Given the description of an element on the screen output the (x, y) to click on. 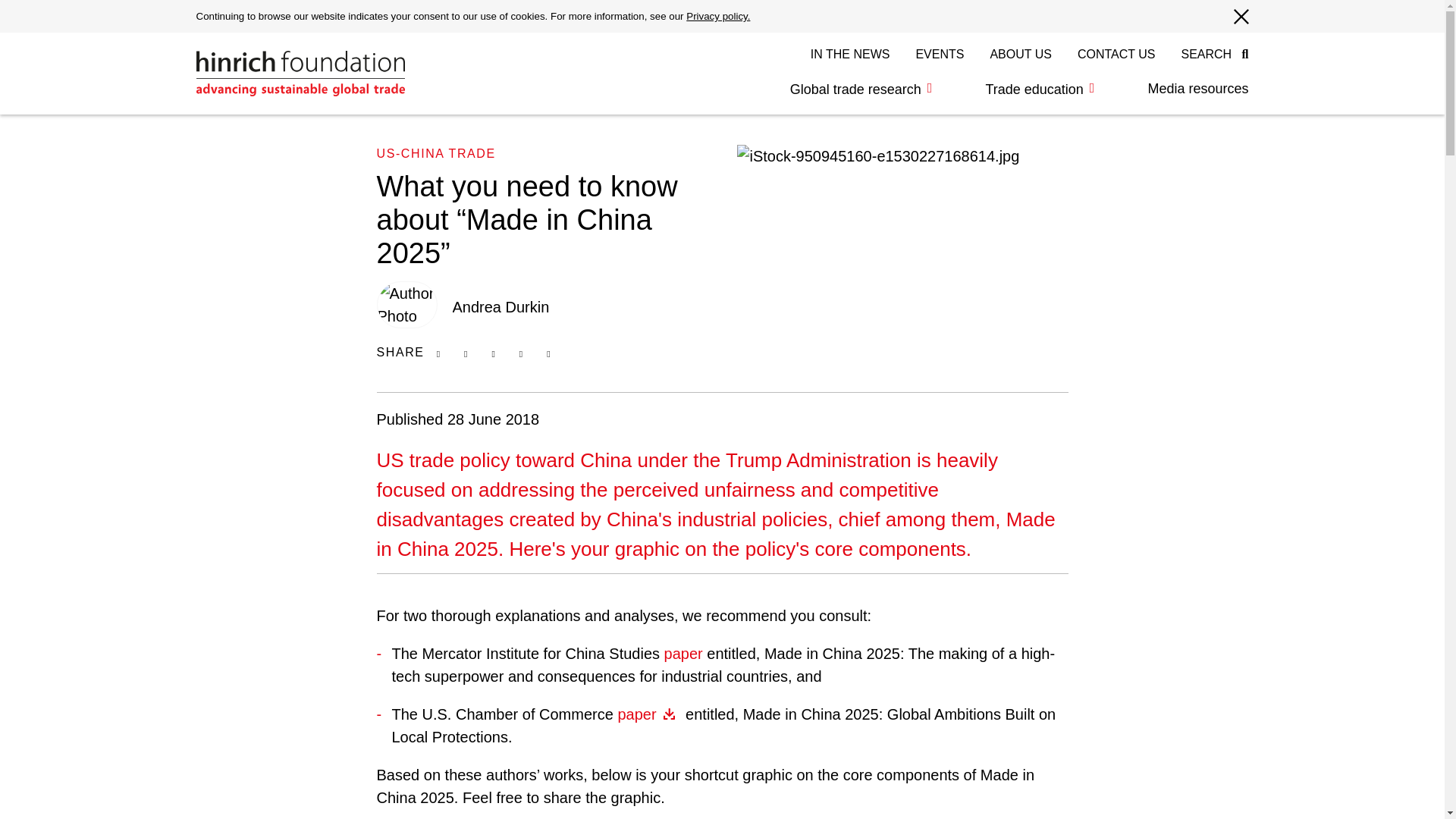
Privacy policy. (717, 16)
Trade education (1039, 89)
Media resources (1184, 88)
Global trade research (860, 89)
Privacy policy (717, 16)
